Given the description of an element on the screen output the (x, y) to click on. 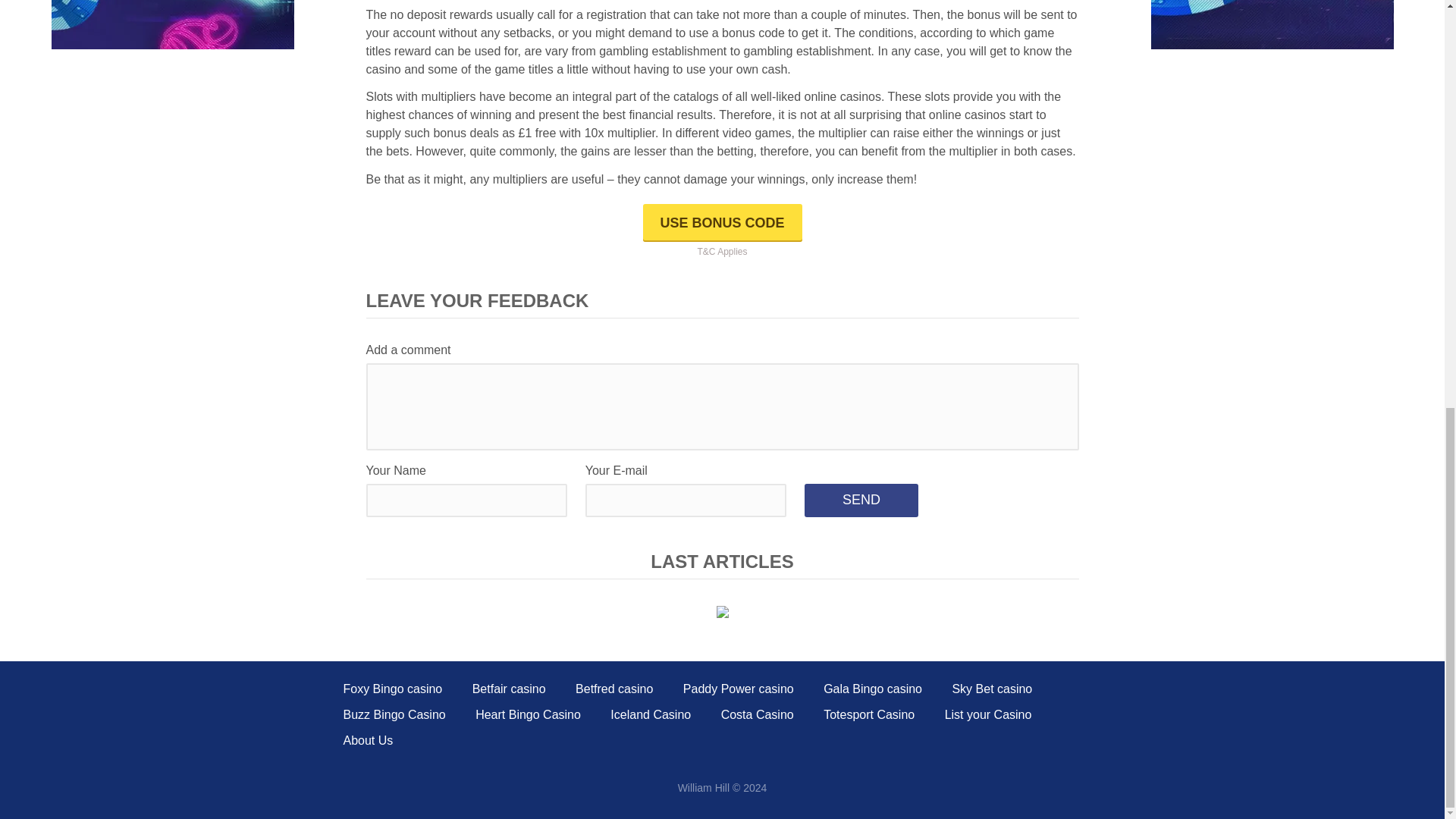
Sky Bet casino (992, 688)
Betfair casino (508, 688)
Betfred casino (613, 688)
Gala Bingo casino (172, 24)
Paddy Power casino (872, 688)
Foxy Bingo casino (737, 688)
SEND (1272, 24)
